Given the description of an element on the screen output the (x, y) to click on. 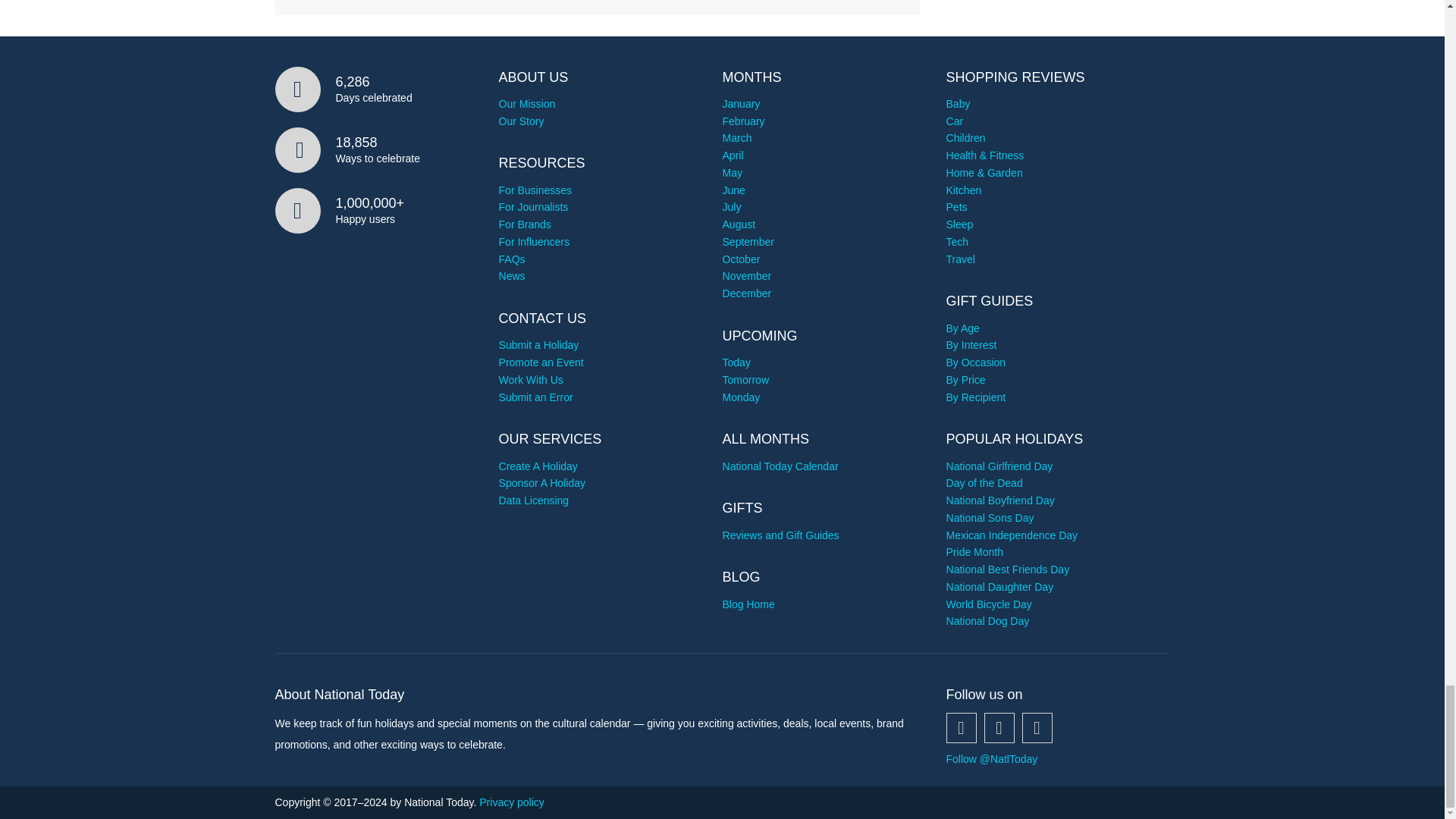
Follow us on Instagram (1037, 727)
Follow us on Twitter (999, 727)
Follow us on Facebook (961, 727)
